Given the description of an element on the screen output the (x, y) to click on. 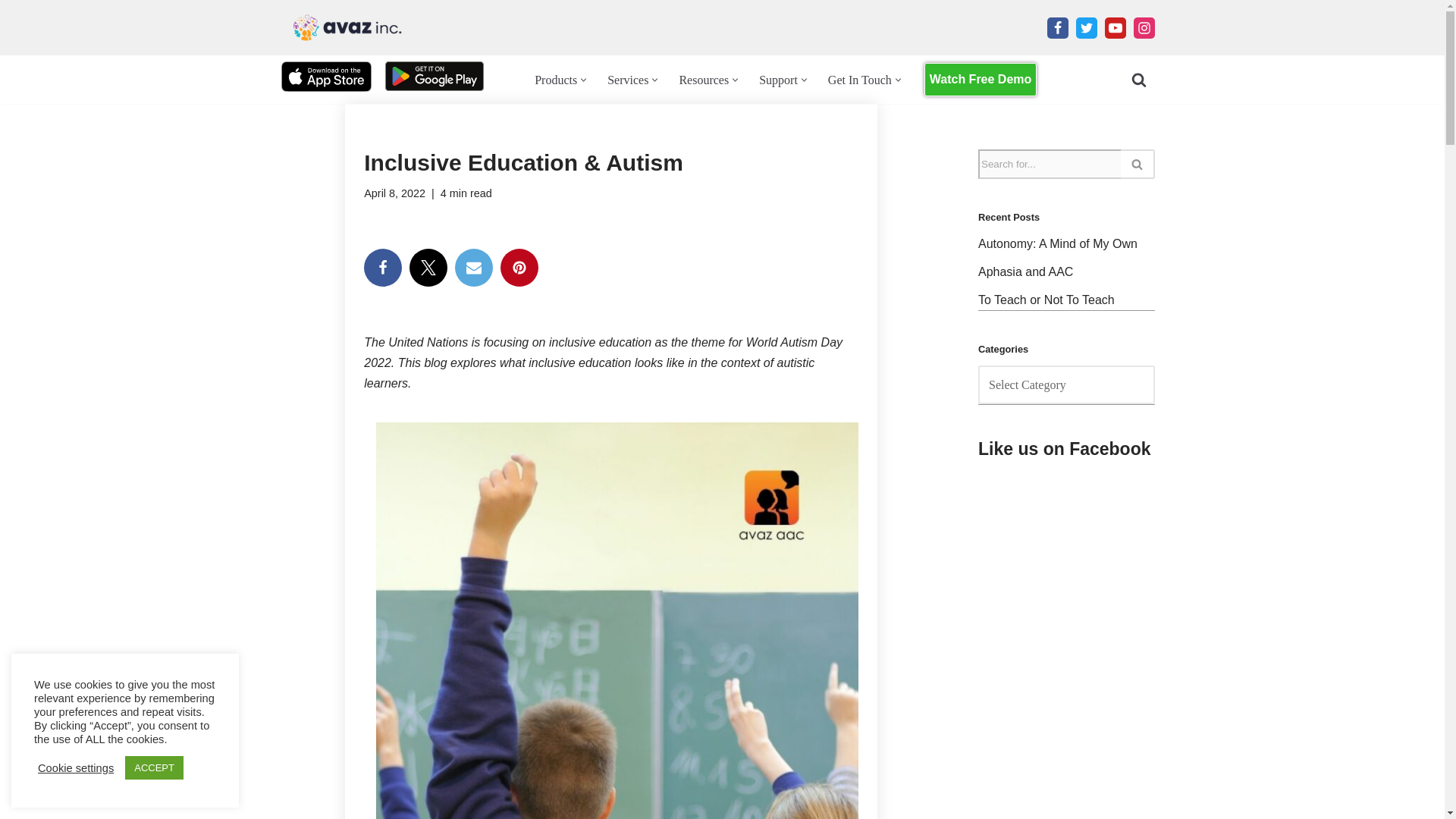
Watch Free Demo (980, 79)
Skip to content (11, 31)
Twitter (427, 267)
Youtube (1114, 27)
Support (777, 79)
Email (473, 267)
Resources (703, 79)
Get In Touch (859, 79)
Services (627, 79)
Products (555, 79)
